Given the description of an element on the screen output the (x, y) to click on. 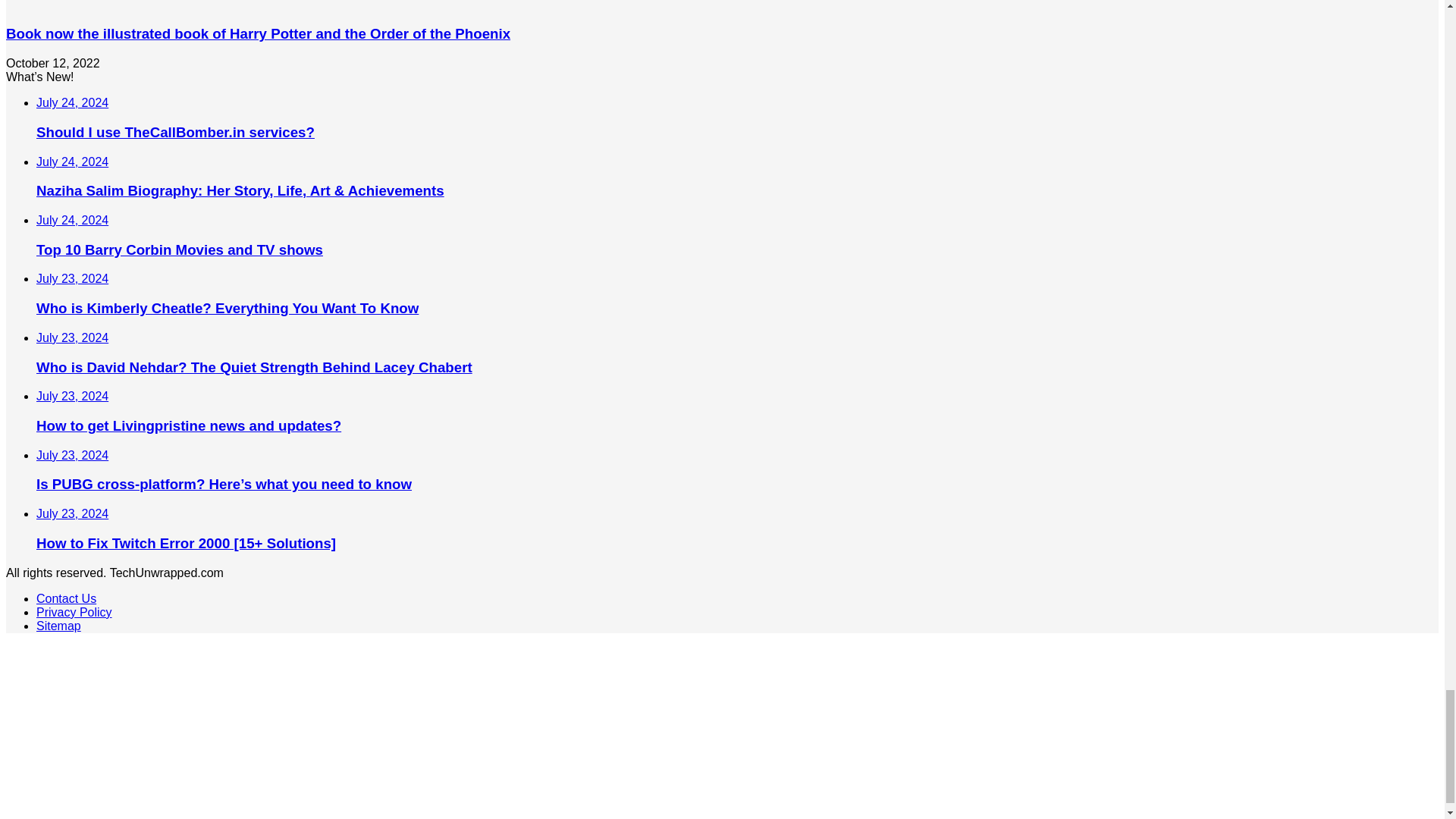
Privacy Policy (74, 612)
Sitemap (58, 625)
Contact Us (66, 598)
